Given the description of an element on the screen output the (x, y) to click on. 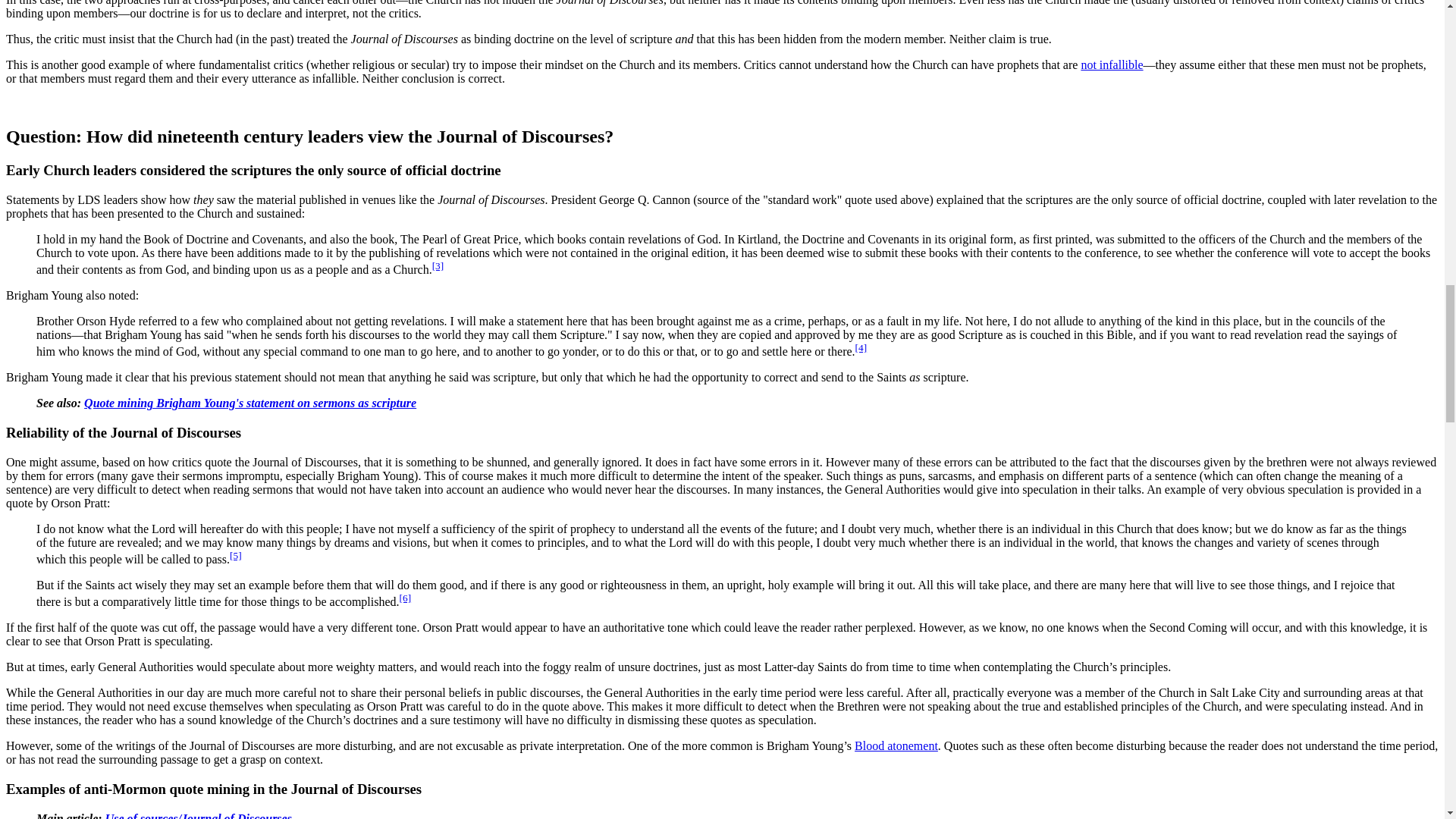
Blood atonement (895, 745)
Official Church doctrine and statements by Church leaders (1111, 64)
not infallible (1111, 64)
